Given the description of an element on the screen output the (x, y) to click on. 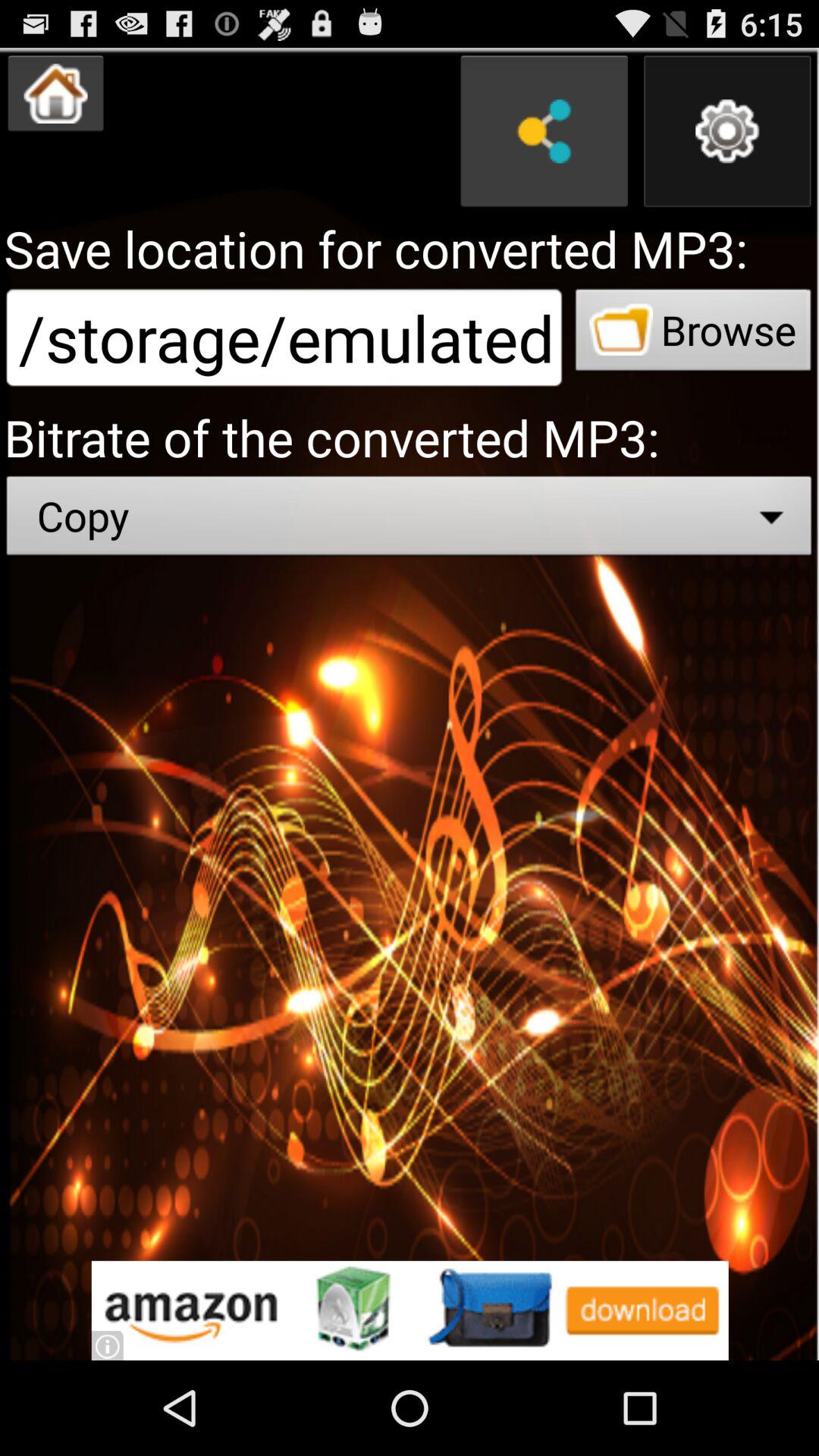
config (727, 130)
